Given the description of an element on the screen output the (x, y) to click on. 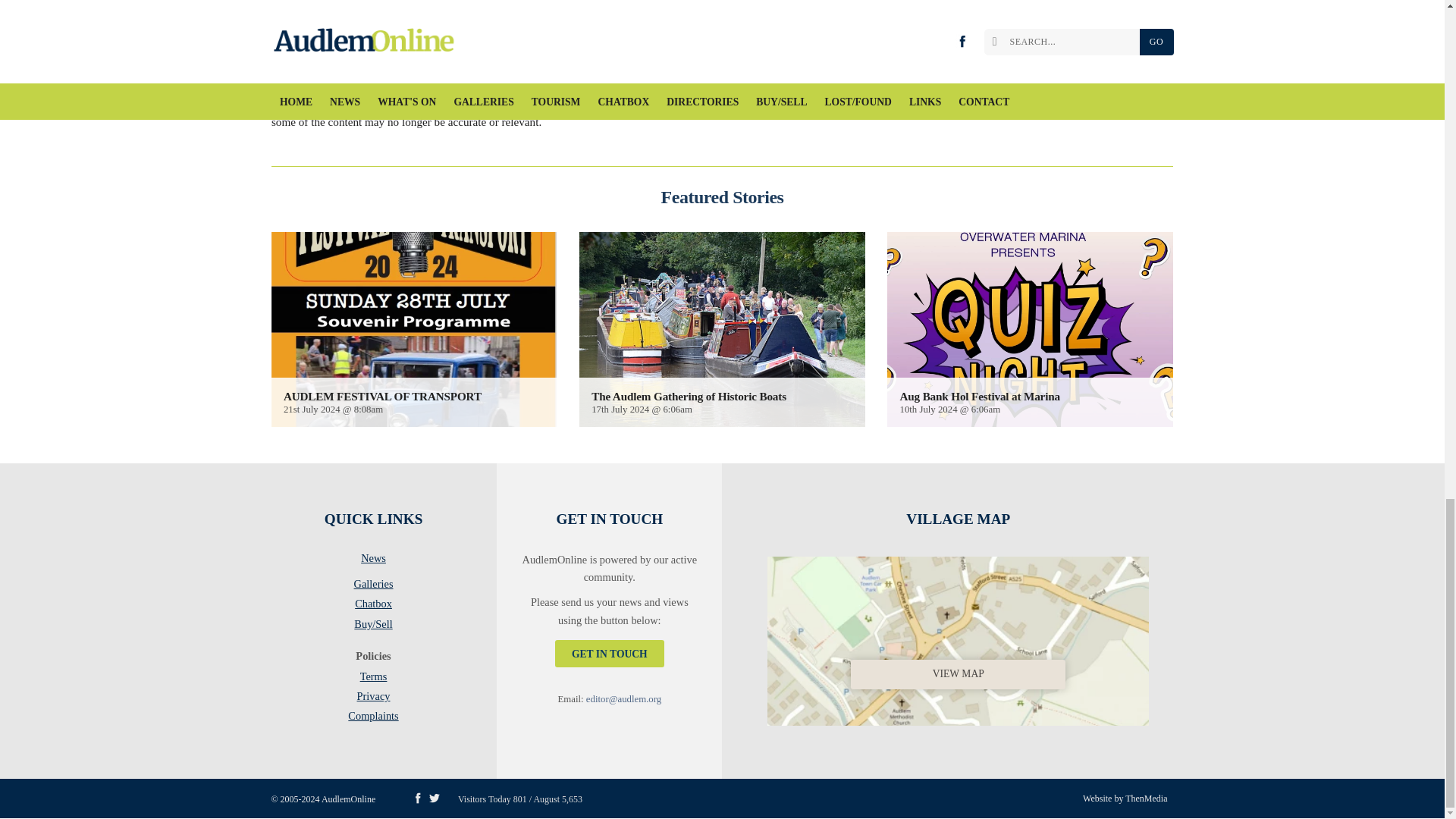
Terms (373, 679)
Privacy (373, 699)
GET IN TOUCH (608, 653)
Visit our Facebook Page (417, 797)
Visit our X Feed (434, 797)
Chatbox (373, 606)
News (373, 560)
Complaints (373, 715)
Galleries (373, 587)
Featured Stories (722, 197)
